Given the description of an element on the screen output the (x, y) to click on. 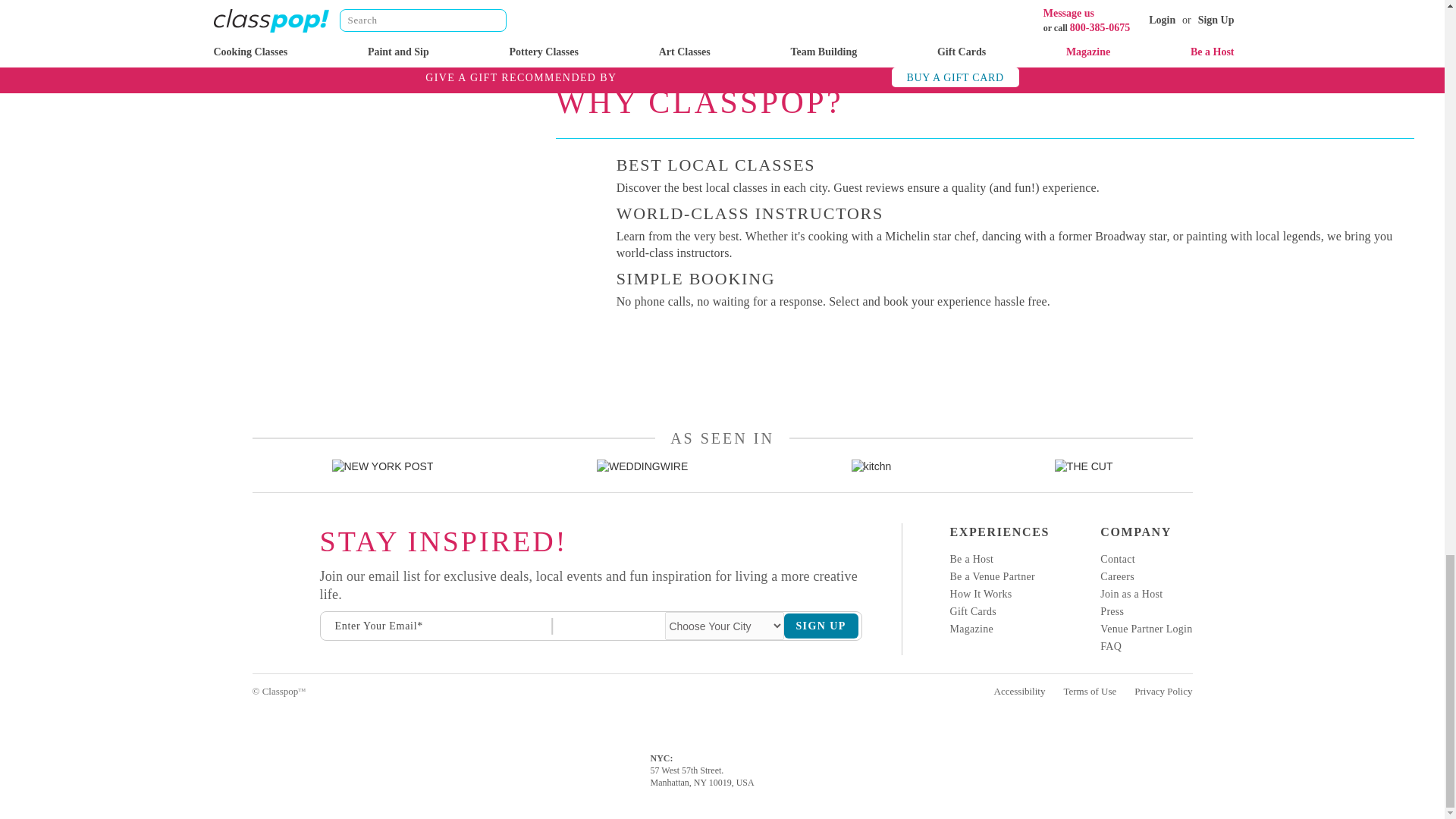
Facebook (253, 563)
Yelp (253, 588)
Twitter (253, 615)
Pinterest (253, 640)
Instagram (253, 537)
